Given the description of an element on the screen output the (x, y) to click on. 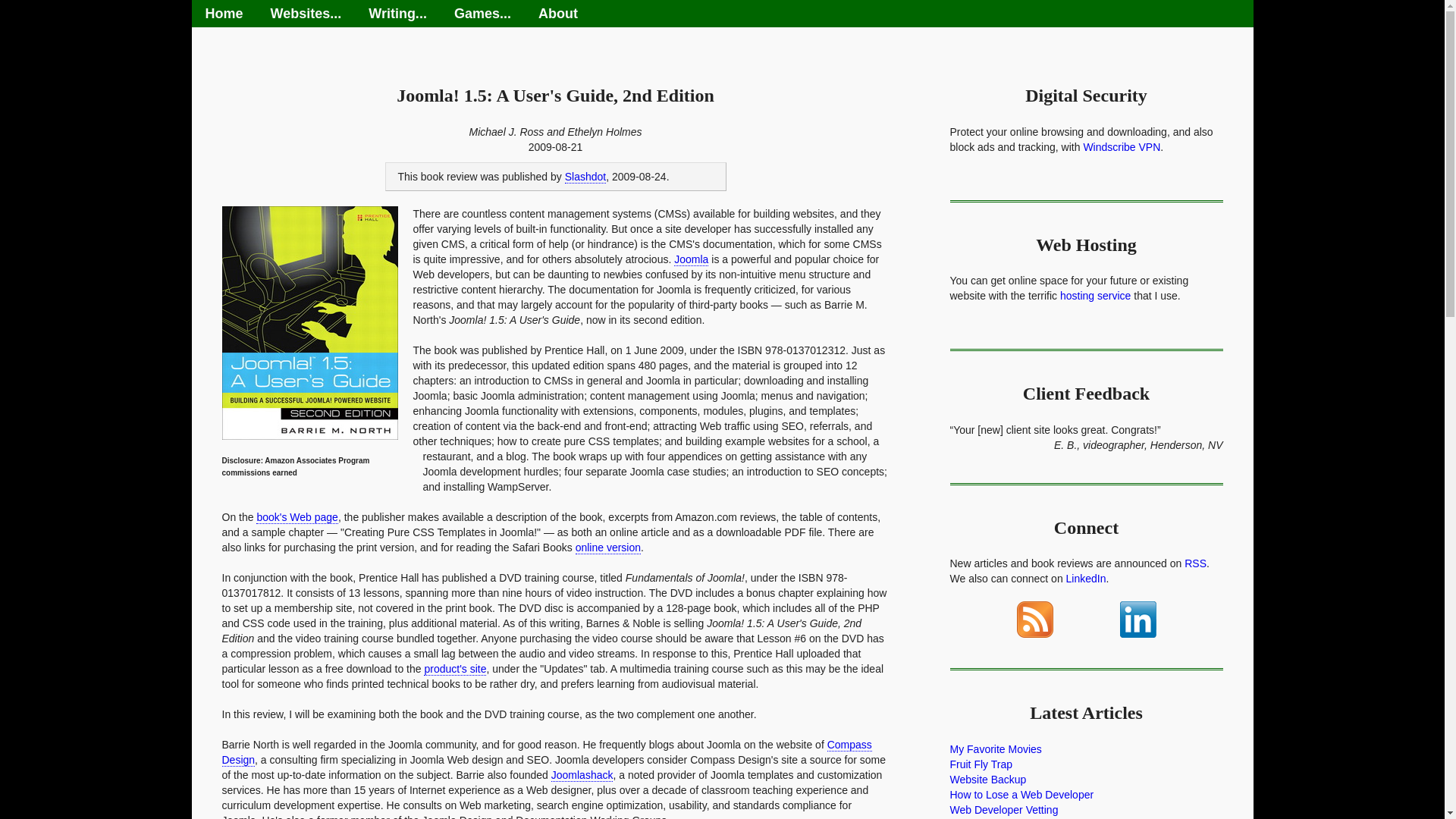
Joomlashack (581, 775)
Home (223, 14)
product's site (454, 668)
Joomla (690, 259)
About (557, 14)
Games... (482, 14)
Slashdot (584, 176)
Writing... (398, 14)
online version (607, 547)
Compass Design (545, 752)
book's Web page (296, 517)
Websites... (306, 14)
